Given the description of an element on the screen output the (x, y) to click on. 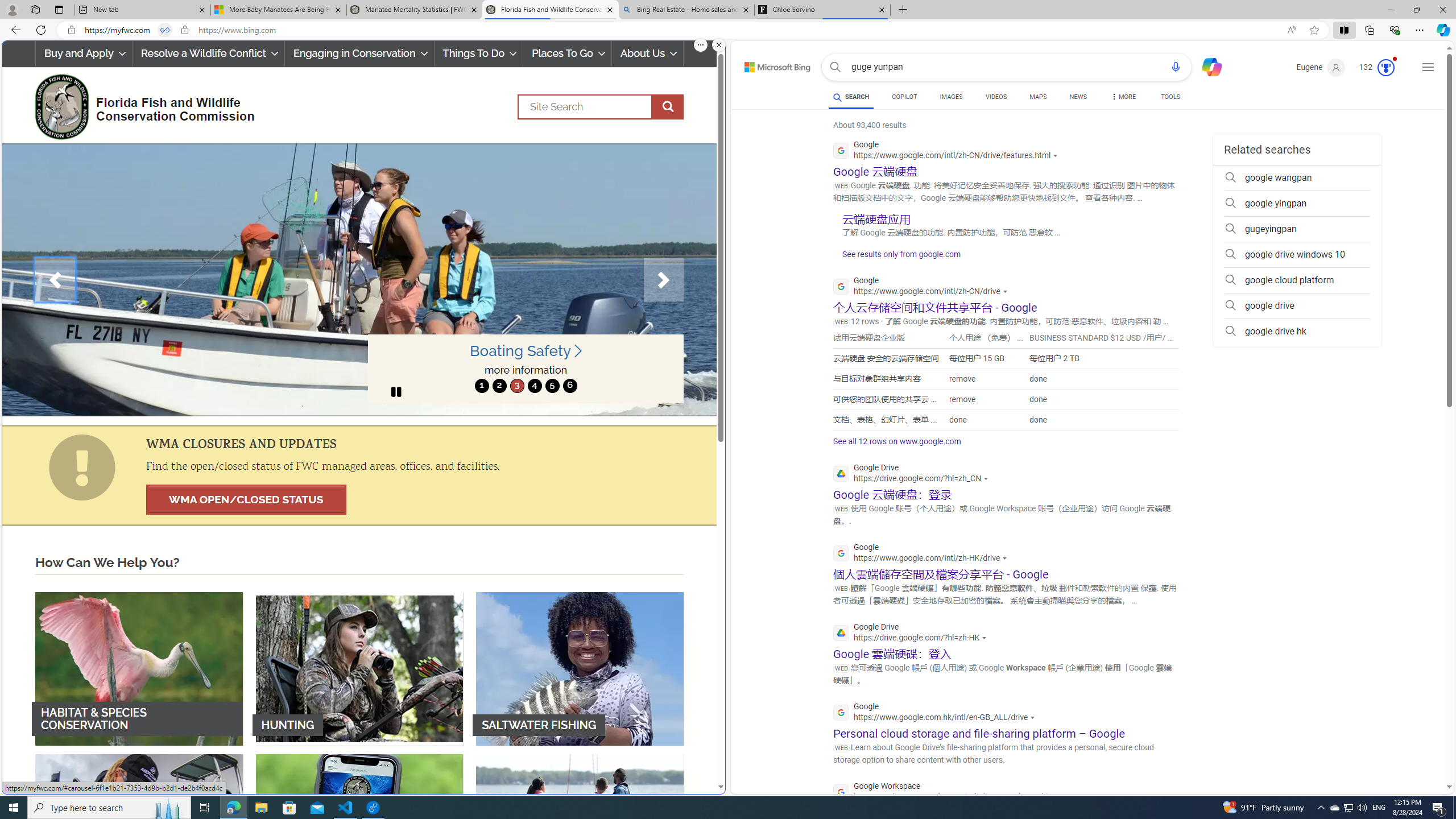
TOOLS (1171, 96)
2 (499, 385)
Global web icon (841, 791)
About Us (647, 53)
move to slide 6 (569, 385)
HABITAT & SPECIES CONSERVATION (138, 668)
NEWS (1078, 98)
Google (936, 713)
google cloud platform (1297, 280)
